Given the description of an element on the screen output the (x, y) to click on. 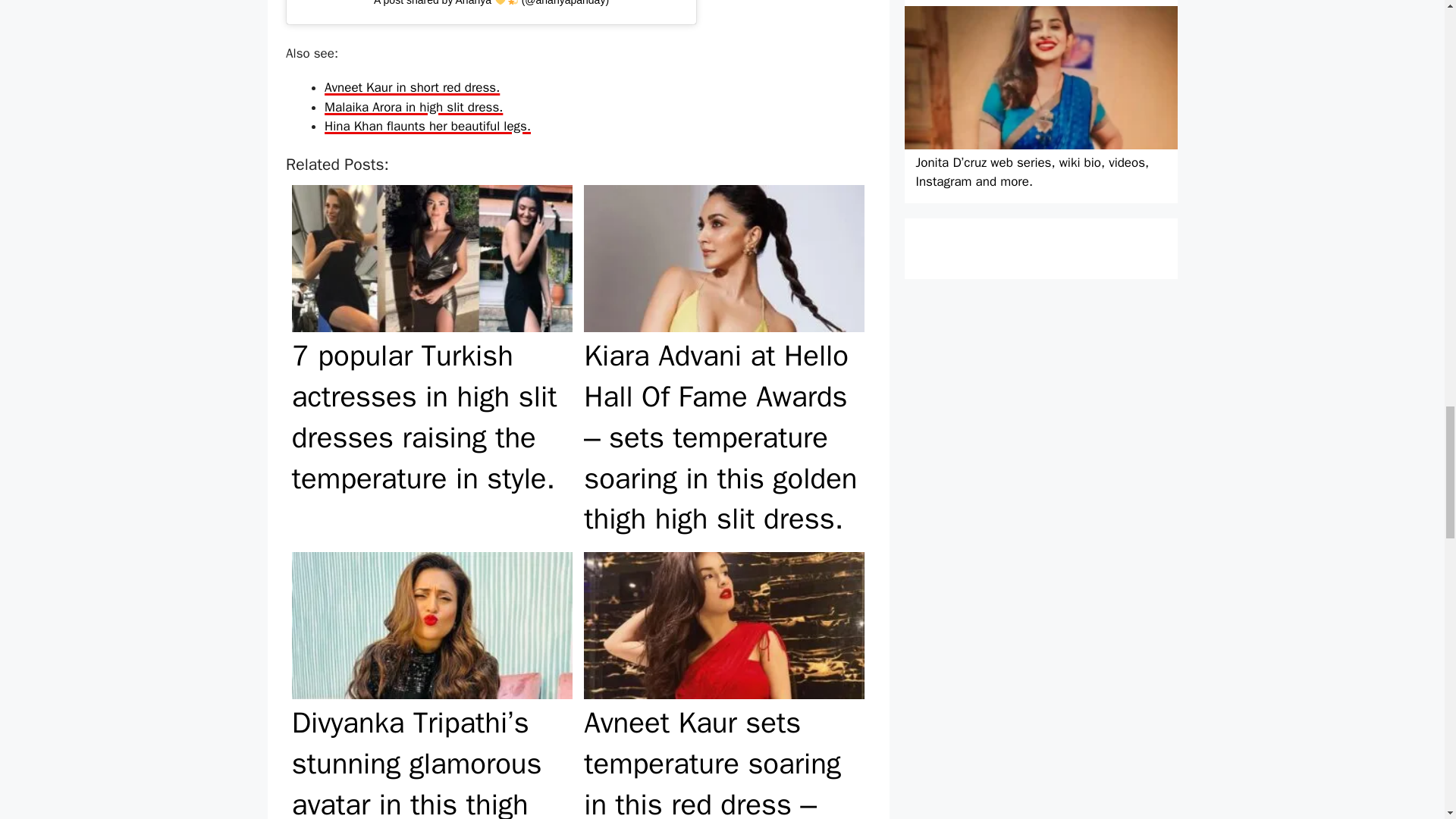
divyanka tripathi black dress rosy red lips (432, 626)
Malaika Arora in high slit dress. (413, 107)
turkish actress high slit dress legs (432, 258)
Avneet Kaur in short red dress. (411, 87)
Hina Khan flaunts her beautiful legs. (427, 125)
avneet kaur red dress (723, 626)
